Given the description of an element on the screen output the (x, y) to click on. 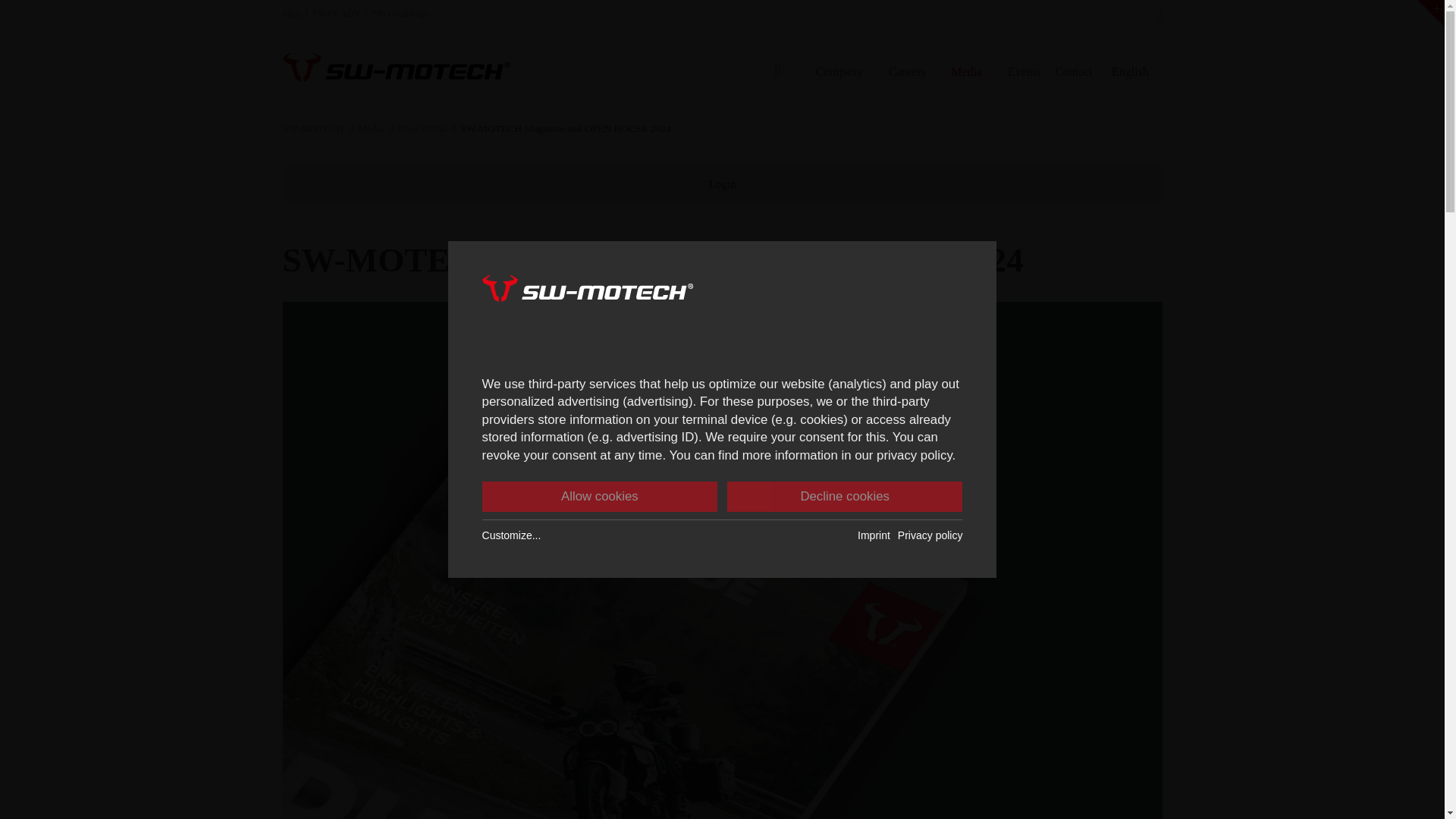
Shop (291, 13)
Login (1022, 250)
